Given the description of an element on the screen output the (x, y) to click on. 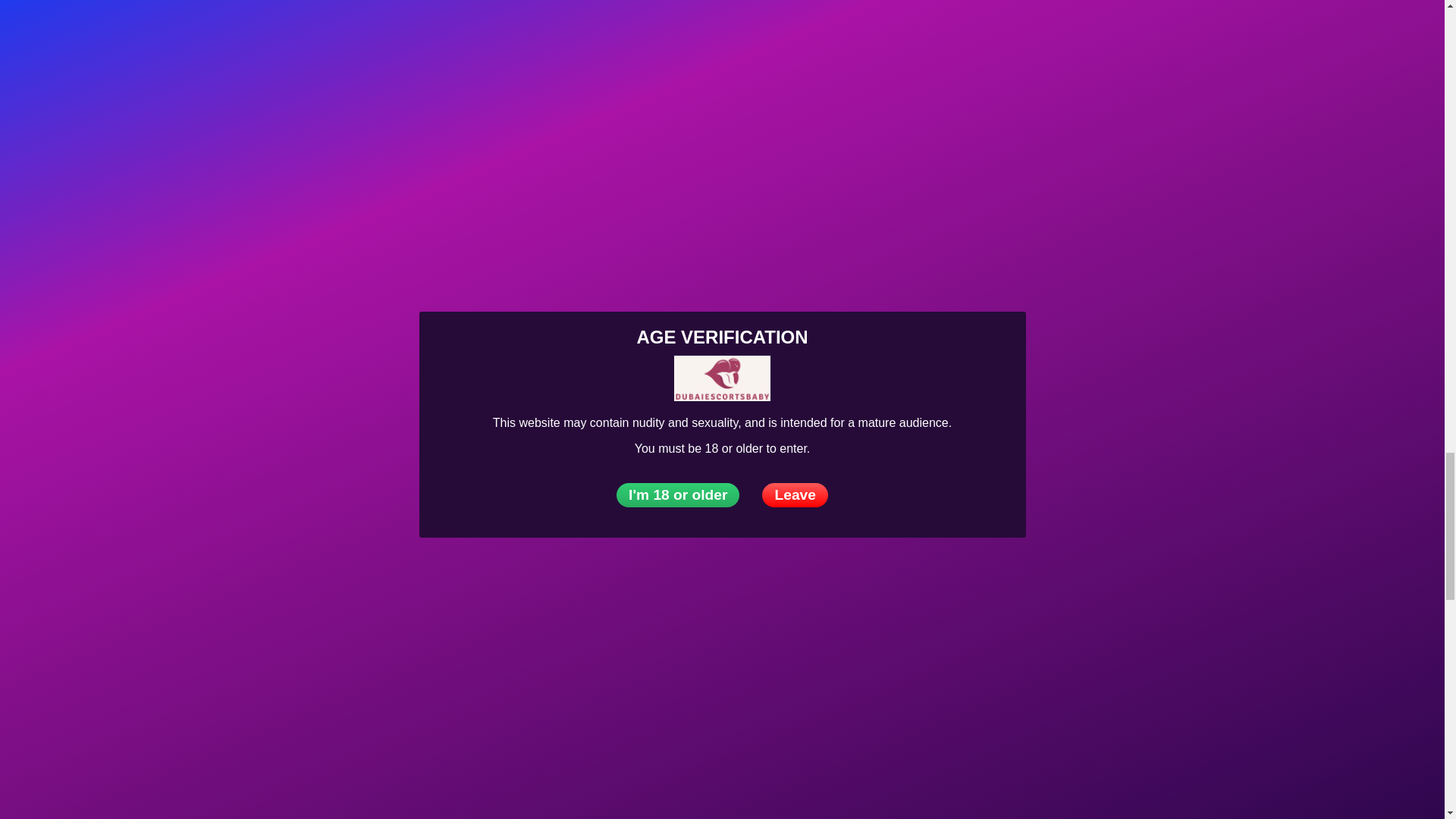
Search (36, 561)
